Given the description of an element on the screen output the (x, y) to click on. 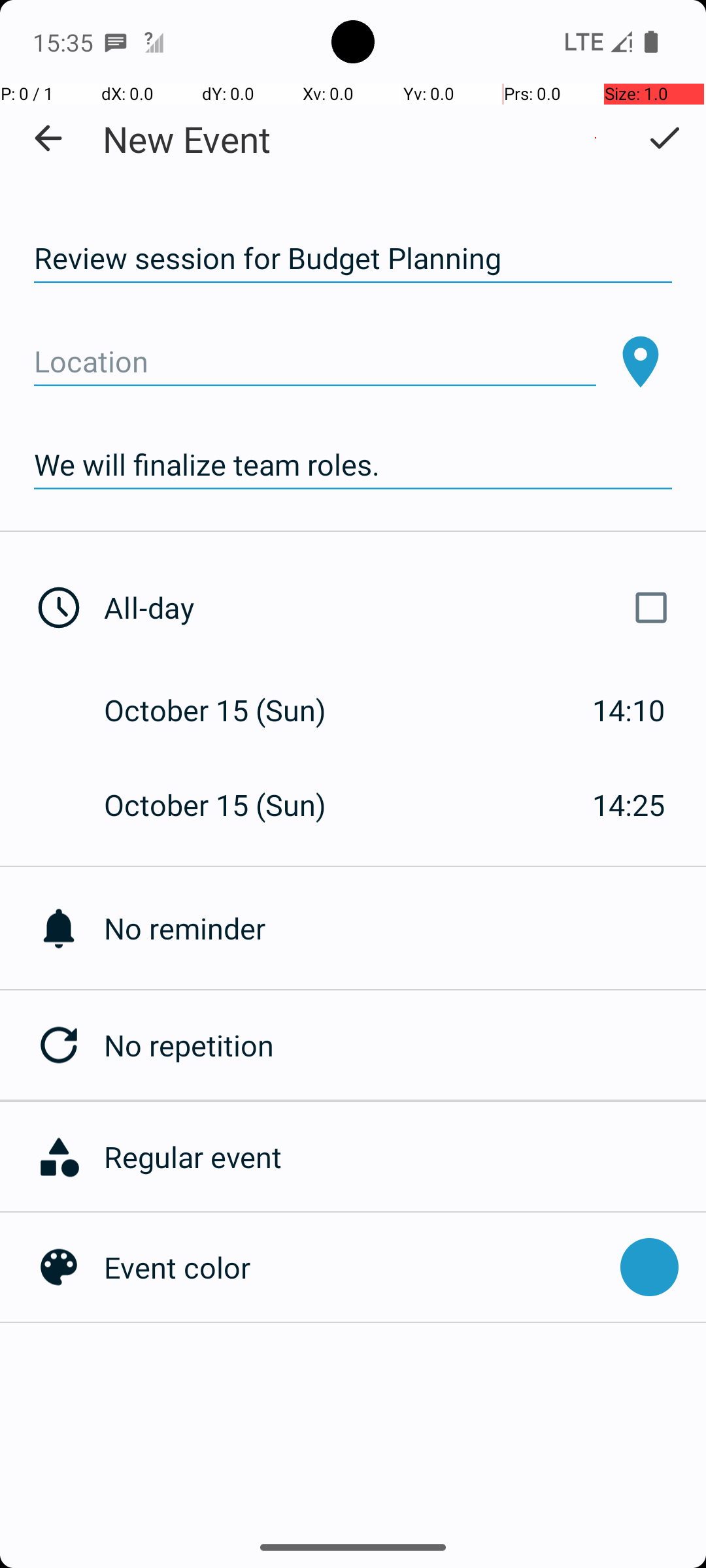
We will finalize team roles. Element type: android.widget.EditText (352, 465)
14:10 Element type: android.widget.TextView (628, 709)
14:25 Element type: android.widget.TextView (628, 804)
